Given the description of an element on the screen output the (x, y) to click on. 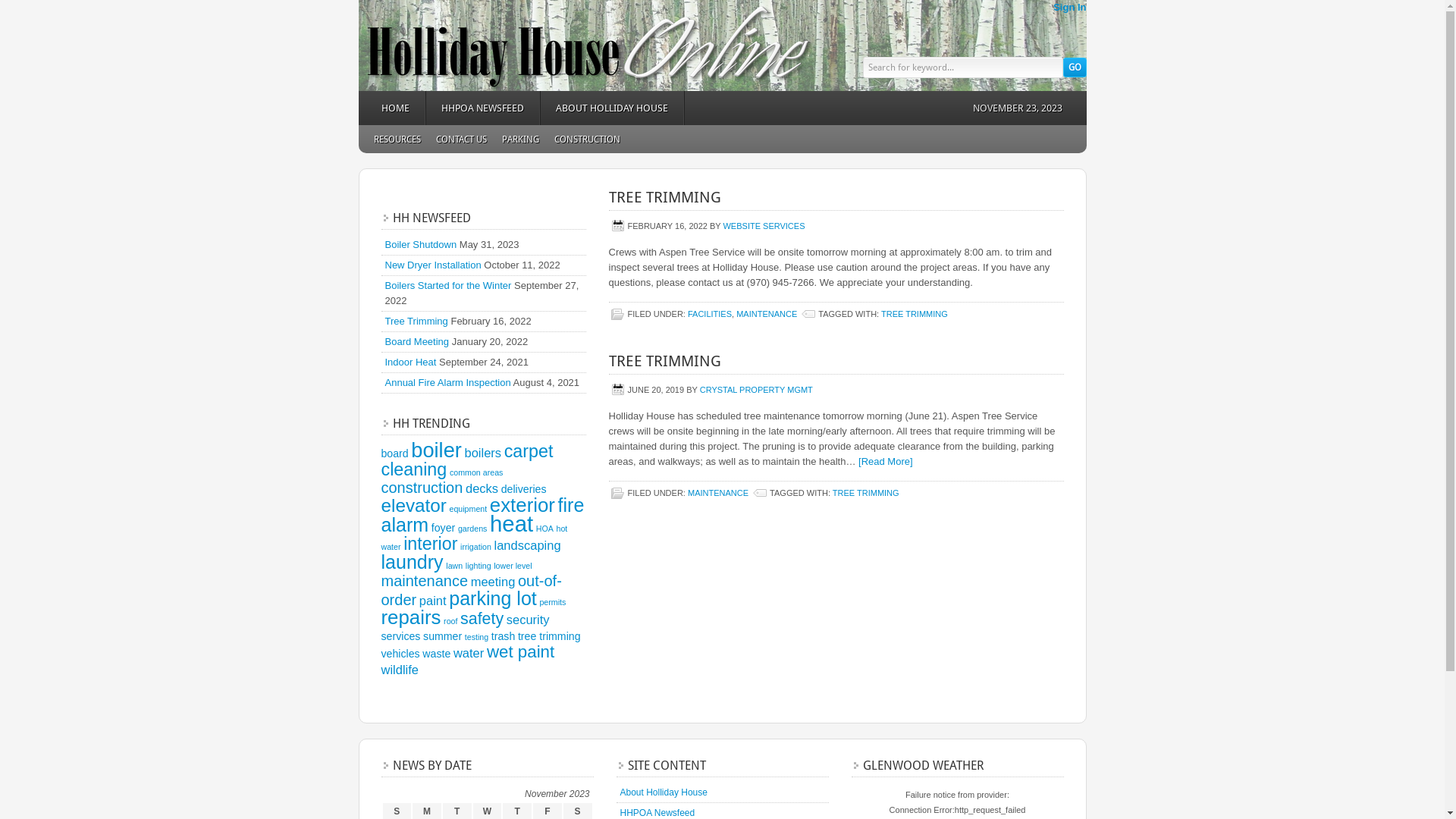
gardens Element type: text (472, 528)
elevator Element type: text (412, 505)
maintenance Element type: text (423, 580)
PARKING Element type: text (520, 139)
carpet Element type: text (528, 451)
decks Element type: text (481, 488)
About Holliday House Element type: text (663, 792)
meeting Element type: text (492, 581)
FACILITIES Element type: text (709, 313)
safety Element type: text (481, 618)
roof Element type: text (450, 620)
wildlife Element type: text (399, 669)
tree trimming Element type: text (548, 636)
Board Meeting Element type: text (417, 341)
laundry Element type: text (411, 561)
HOME Element type: text (395, 108)
Annual Fire Alarm Inspection Element type: text (448, 382)
boiler Element type: text (436, 449)
out-of-order Element type: text (470, 590)
equipment Element type: text (467, 508)
CONSTRUCTION Element type: text (586, 139)
Go Element type: text (1074, 67)
security Element type: text (527, 619)
board Element type: text (393, 453)
MAINTENANCE Element type: text (717, 492)
New Dryer Installation Element type: text (433, 264)
Boilers Started for the Winter Element type: text (448, 285)
permits Element type: text (552, 601)
Indoor Heat Element type: text (410, 361)
[Read More] Element type: text (885, 461)
RESOURCES Element type: text (396, 139)
HOLLIDAY HOUSE ONLINE Element type: text (493, 45)
foyer Element type: text (443, 527)
interior Element type: text (430, 543)
wet paint Element type: text (520, 651)
TREE TRIMMING Element type: text (914, 313)
MAINTENANCE Element type: text (766, 313)
trash Element type: text (502, 636)
Boiler Shutdown Element type: text (421, 244)
Tree Trimming Element type: text (416, 320)
TREE TRIMMING Element type: text (664, 360)
deliveries Element type: text (523, 489)
construction Element type: text (421, 487)
parking lot Element type: text (492, 597)
waste Element type: text (436, 653)
heat Element type: text (511, 523)
lawn Element type: text (453, 565)
TREE TRIMMING Element type: text (865, 492)
water Element type: text (468, 652)
hot water Element type: text (473, 537)
common areas Element type: text (475, 471)
lower level Element type: text (512, 565)
WEBSITE SERVICES Element type: text (763, 225)
fire alarm Element type: text (481, 514)
services Element type: text (400, 636)
boilers Element type: text (482, 452)
HOA Element type: text (544, 528)
lighting Element type: text (478, 565)
CONTACT US Element type: text (460, 139)
repairs Element type: text (410, 616)
landscaping Element type: text (527, 545)
CRYSTAL PROPERTY MGMT Element type: text (755, 389)
vehicles Element type: text (399, 653)
paint Element type: text (432, 600)
Sign In Element type: text (1069, 6)
summer Element type: text (442, 636)
irrigation Element type: text (475, 546)
ABOUT HOLLIDAY HOUSE Element type: text (611, 108)
HHPOA NEWSFEED Element type: text (483, 108)
cleaning Element type: text (413, 469)
TREE TRIMMING Element type: text (664, 197)
testing Element type: text (476, 636)
HHPOA Newsfeed Element type: text (657, 812)
exterior Element type: text (522, 504)
